Given the description of an element on the screen output the (x, y) to click on. 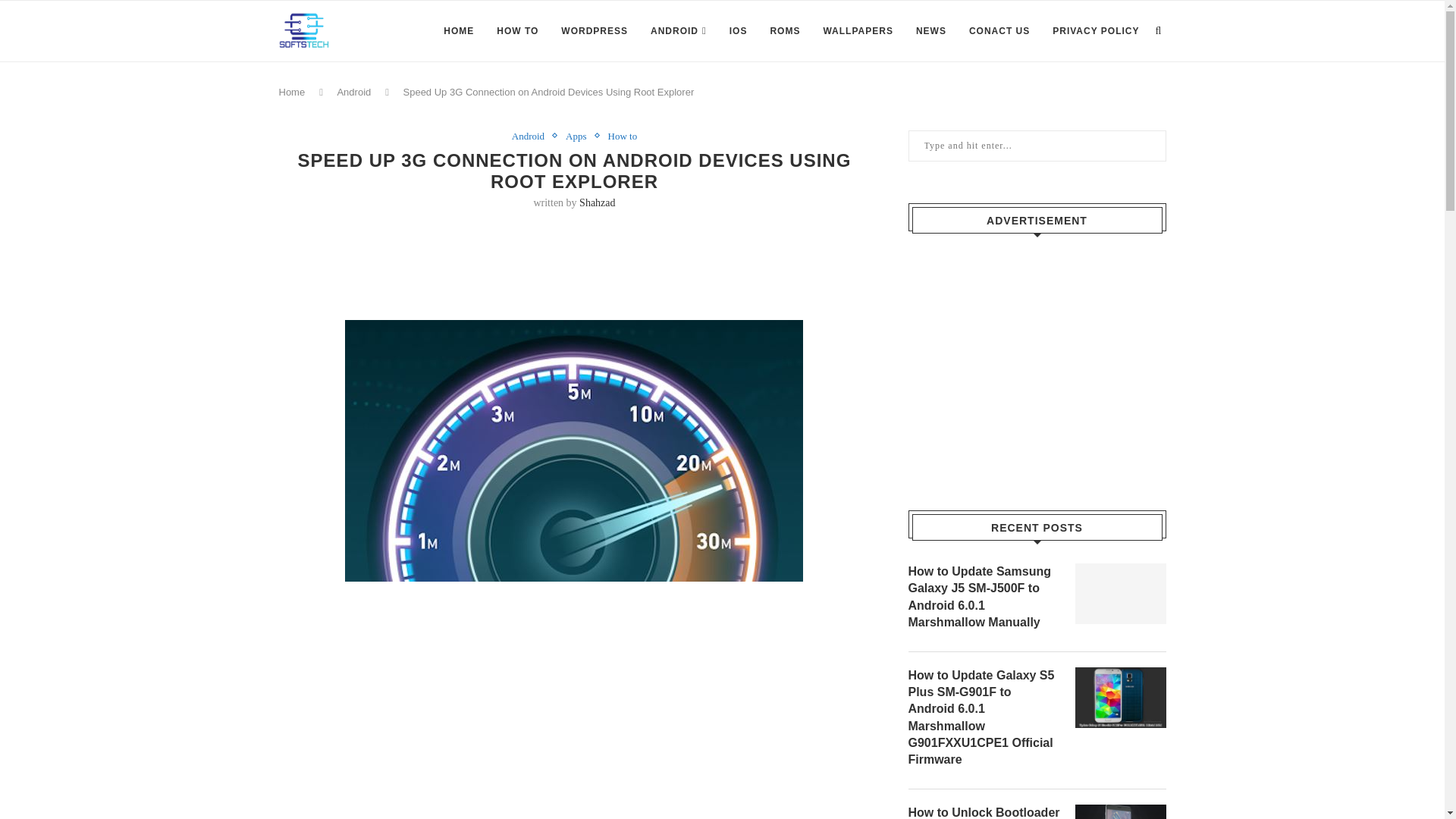
Android (353, 91)
Apps (580, 136)
Home (292, 91)
PRIVACY POLICY (1095, 30)
NEWS (930, 30)
WALLPAPERS (857, 30)
CONACT US (999, 30)
ANDROID (678, 30)
Android (531, 136)
WORDPRESS (593, 30)
IOS (738, 30)
Shahzad (596, 202)
How to (622, 136)
HOW TO (517, 30)
ROMS (784, 30)
